Given the description of an element on the screen output the (x, y) to click on. 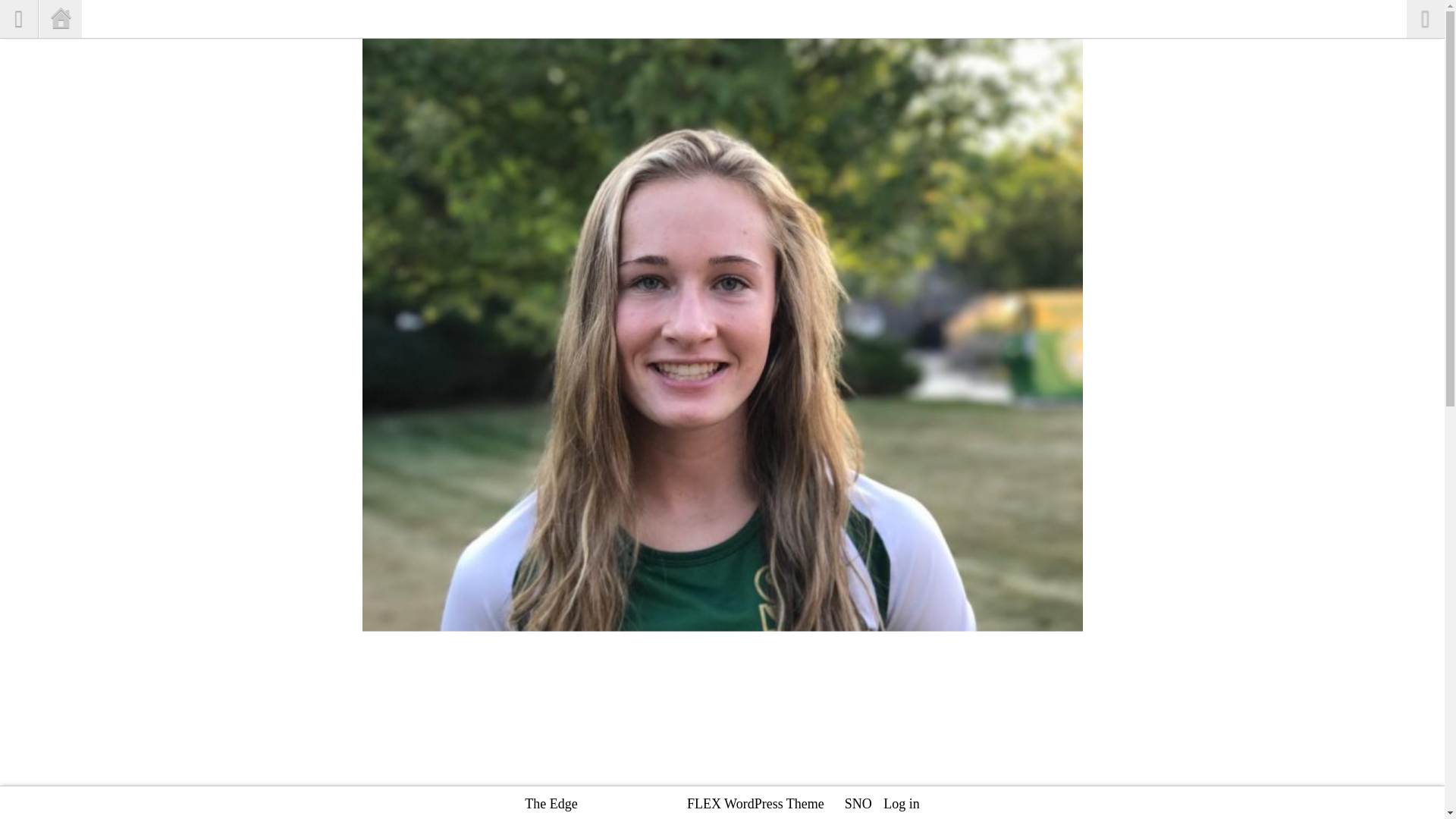
SNO (858, 803)
FLEX WordPress Theme (755, 803)
Log in (901, 803)
The Edge (550, 803)
